Given the description of an element on the screen output the (x, y) to click on. 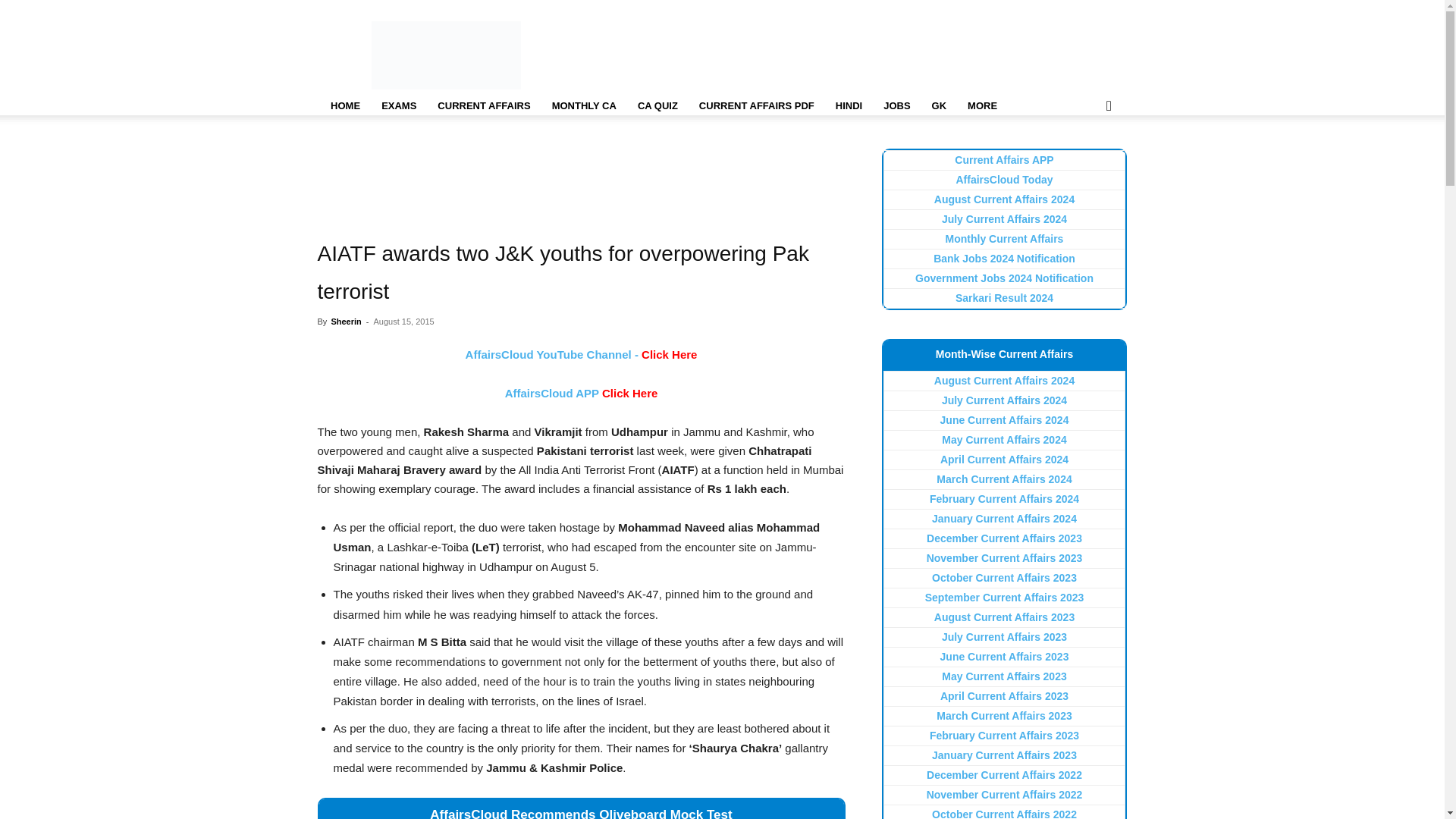
AffairsCloud (446, 55)
Home (344, 105)
Current Affairs PDF (756, 105)
Current Affairs (483, 105)
Current Affairs Hindi (848, 105)
Current Affairs Quiz (657, 105)
